Given the description of an element on the screen output the (x, y) to click on. 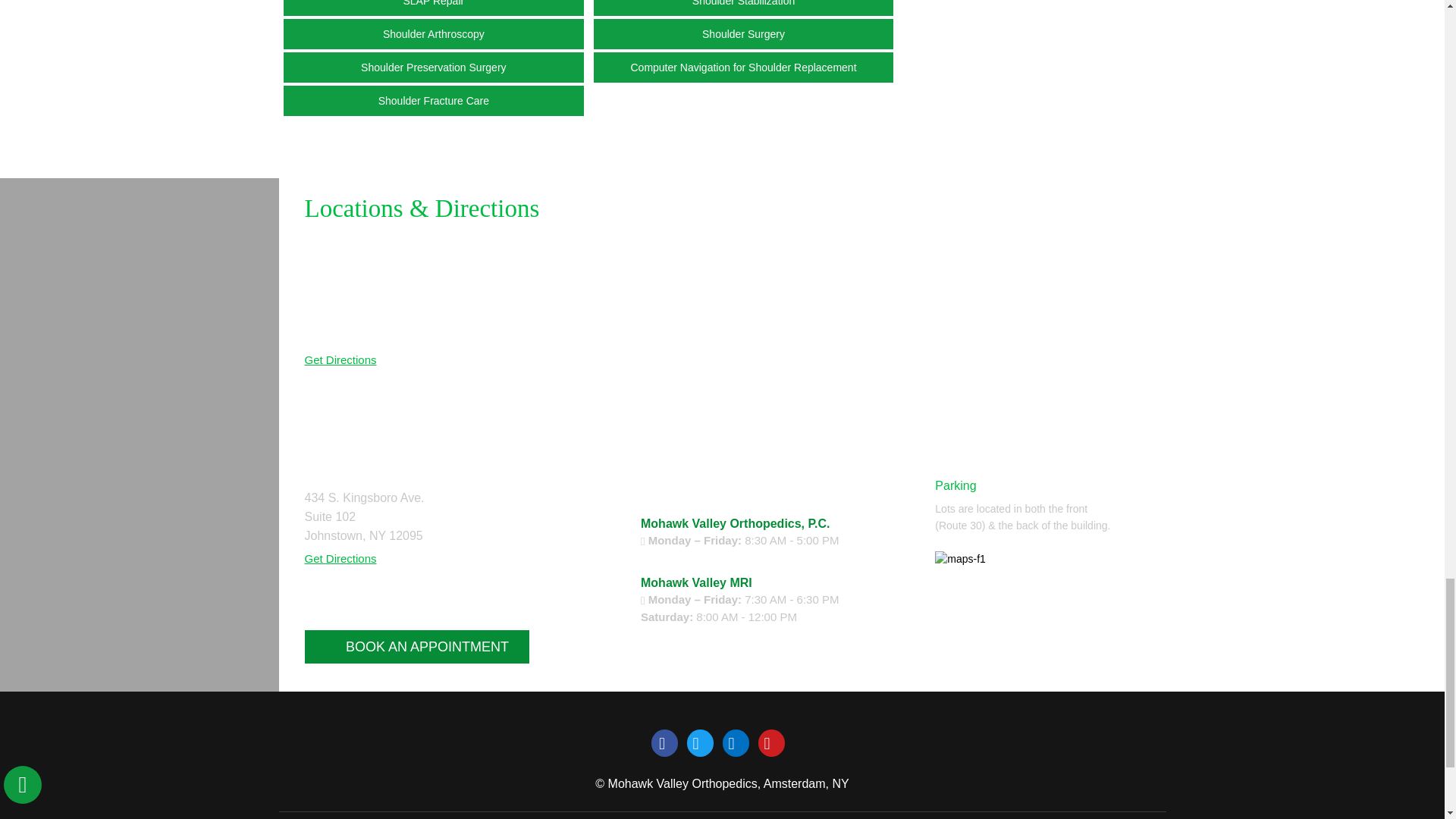
Previous Slide (979, 671)
Next Slide (1023, 671)
